Given the description of an element on the screen output the (x, y) to click on. 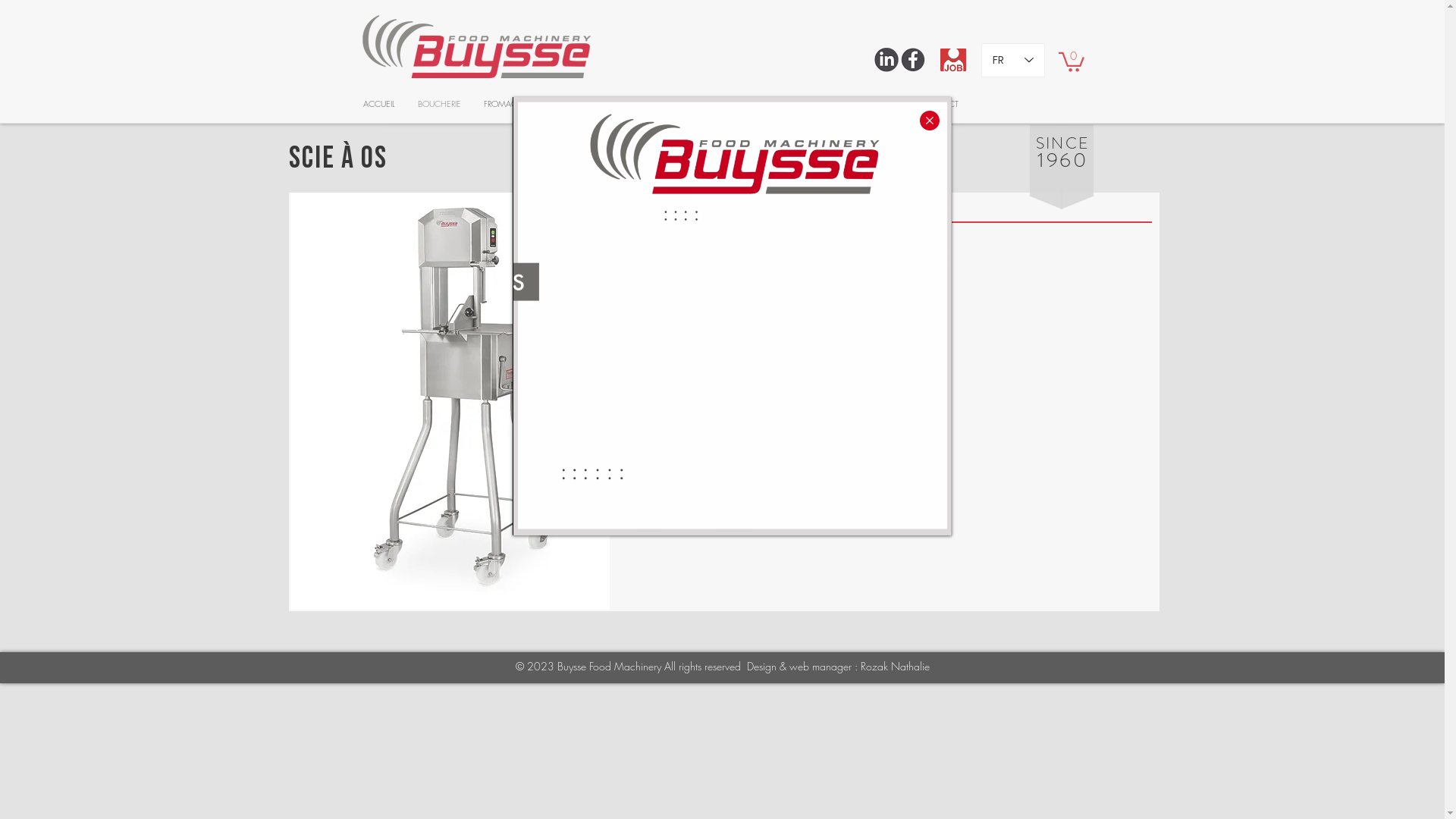
linkedin_Site.png Element type: hover (885, 59)
SECHAGE Element type: text (682, 103)
MATURATION Element type: text (616, 103)
SERVICES Element type: text (880, 103)
0 Element type: text (1071, 61)
CONTAINER Element type: text (746, 103)
-facebook.png Element type: hover (912, 59)
CONTACT Element type: text (938, 103)
OCCASIONS Element type: text (816, 103)
FROMAGERIE & LAITERIE Element type: text (525, 103)
ACCUEIL Element type: text (378, 103)
Retour au site Element type: hover (929, 120)
BOUCHERIE Element type: text (439, 103)
